Given the description of an element on the screen output the (x, y) to click on. 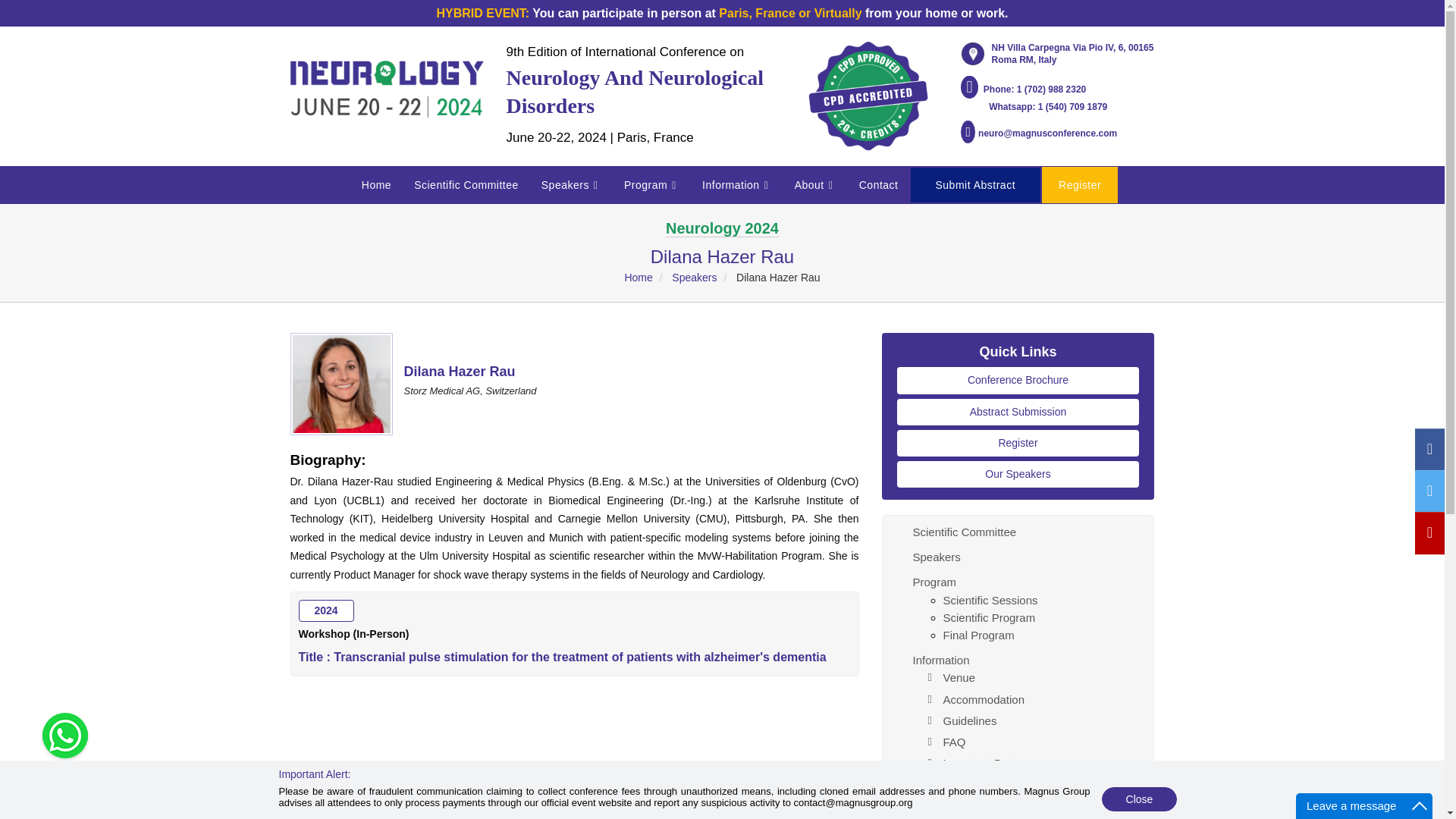
Speakers (571, 184)
Register (1017, 442)
Contact (878, 184)
Scientific Committee (466, 184)
Home (375, 184)
Abstract Submission (1017, 411)
Home (375, 184)
About (815, 184)
Speakers (693, 277)
Speakers (571, 184)
Program (651, 184)
Submit Abstract (975, 184)
Conference Brochure (1017, 379)
Information (737, 184)
